Given the description of an element on the screen output the (x, y) to click on. 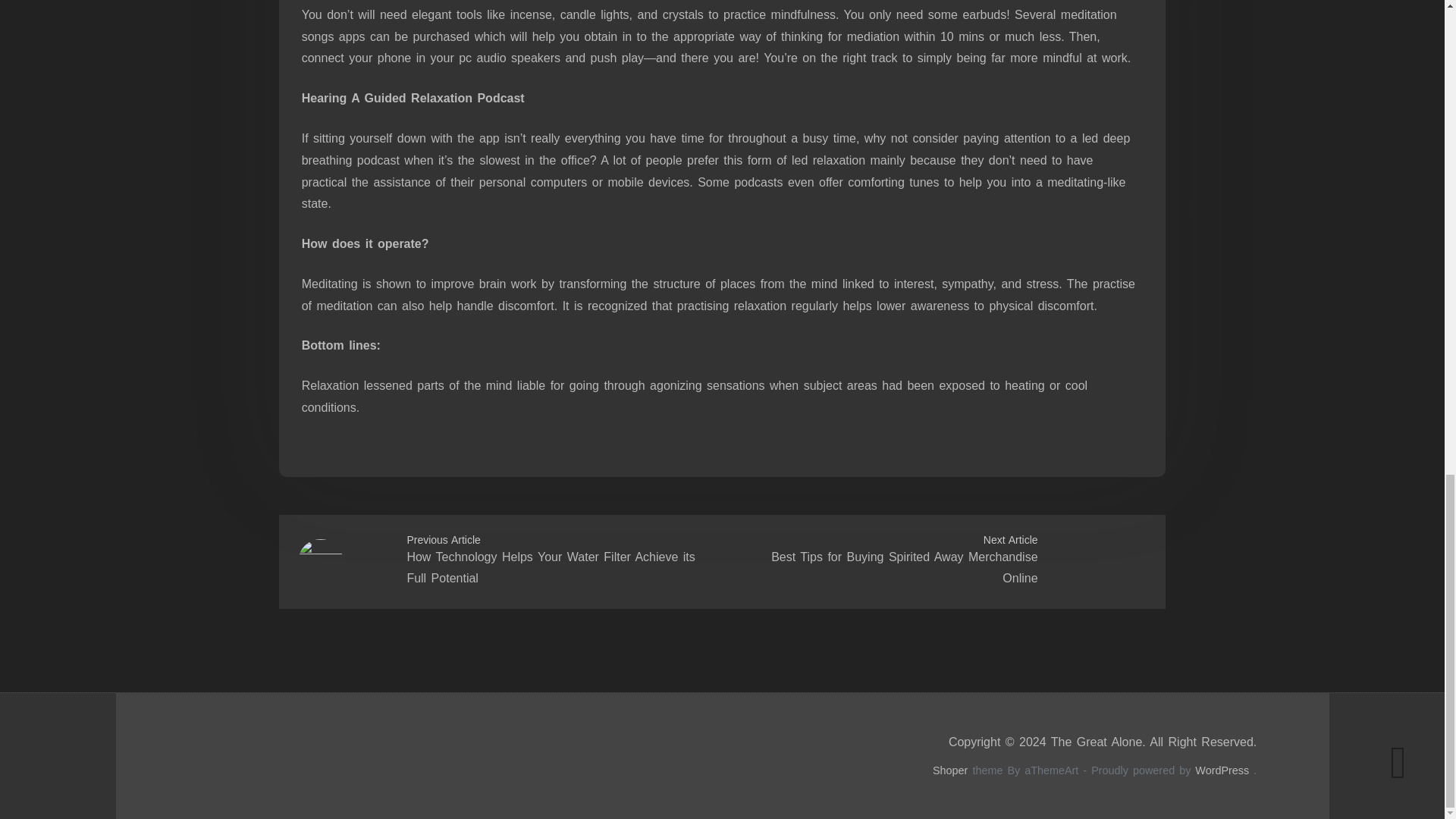
Best Tips for Buying Spirited Away Merchandise Online (903, 567)
Shoper (950, 770)
WordPress (1222, 770)
